Given the description of an element on the screen output the (x, y) to click on. 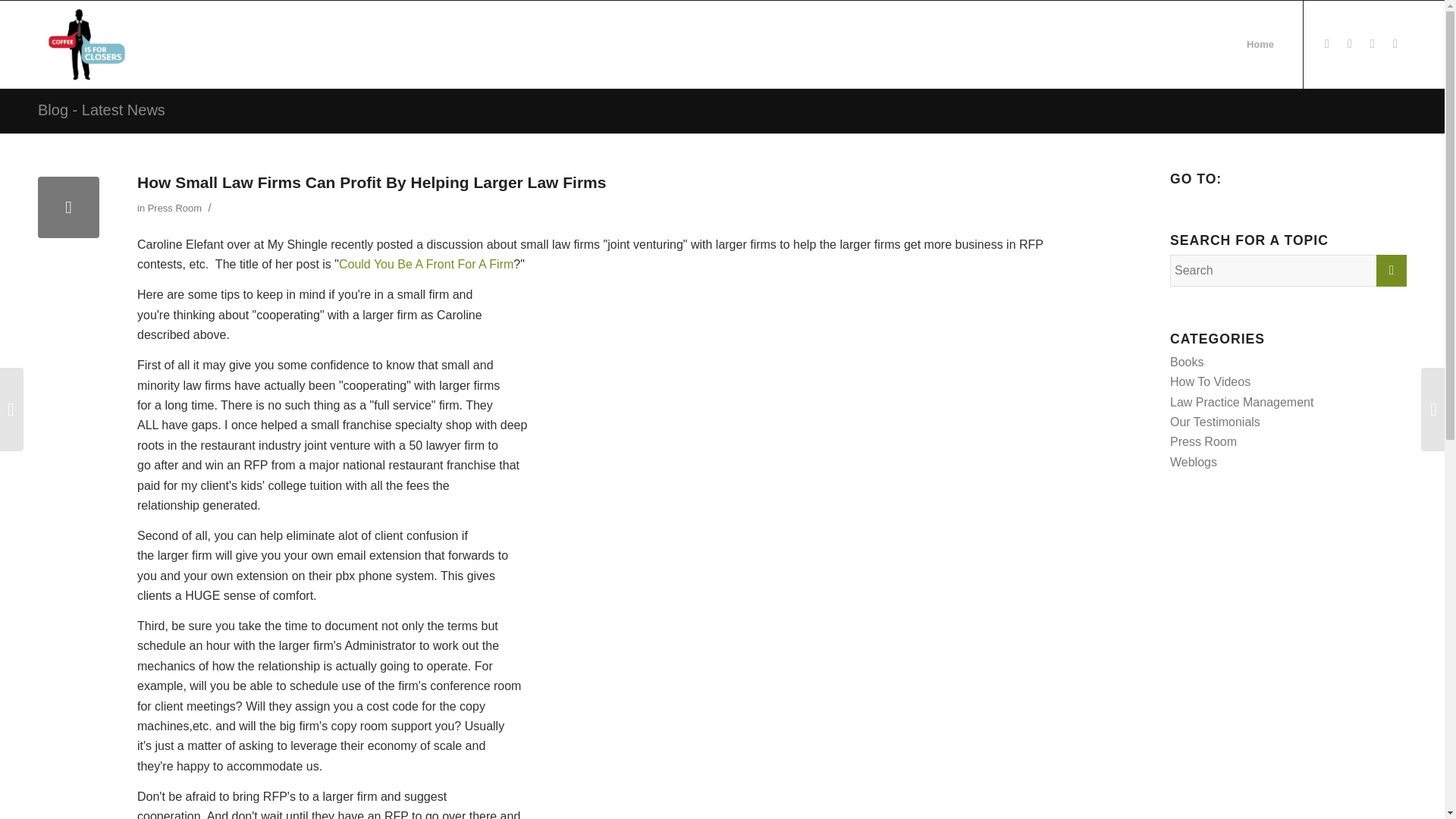
Our Testimonials (1215, 421)
Could You Be A Front For A Firm (426, 264)
How Small Law Firms Can Profit By Helping Larger Law Firms (68, 207)
Blog - Latest News (101, 109)
Linkedin (1395, 43)
Facebook (1327, 43)
Law Practice Management (1241, 401)
How Small Law Firms Can Profit By Helping Larger Law Firms (370, 181)
How To Videos (1210, 381)
Permanent Link: Blog - Latest News (101, 109)
